Given the description of an element on the screen output the (x, y) to click on. 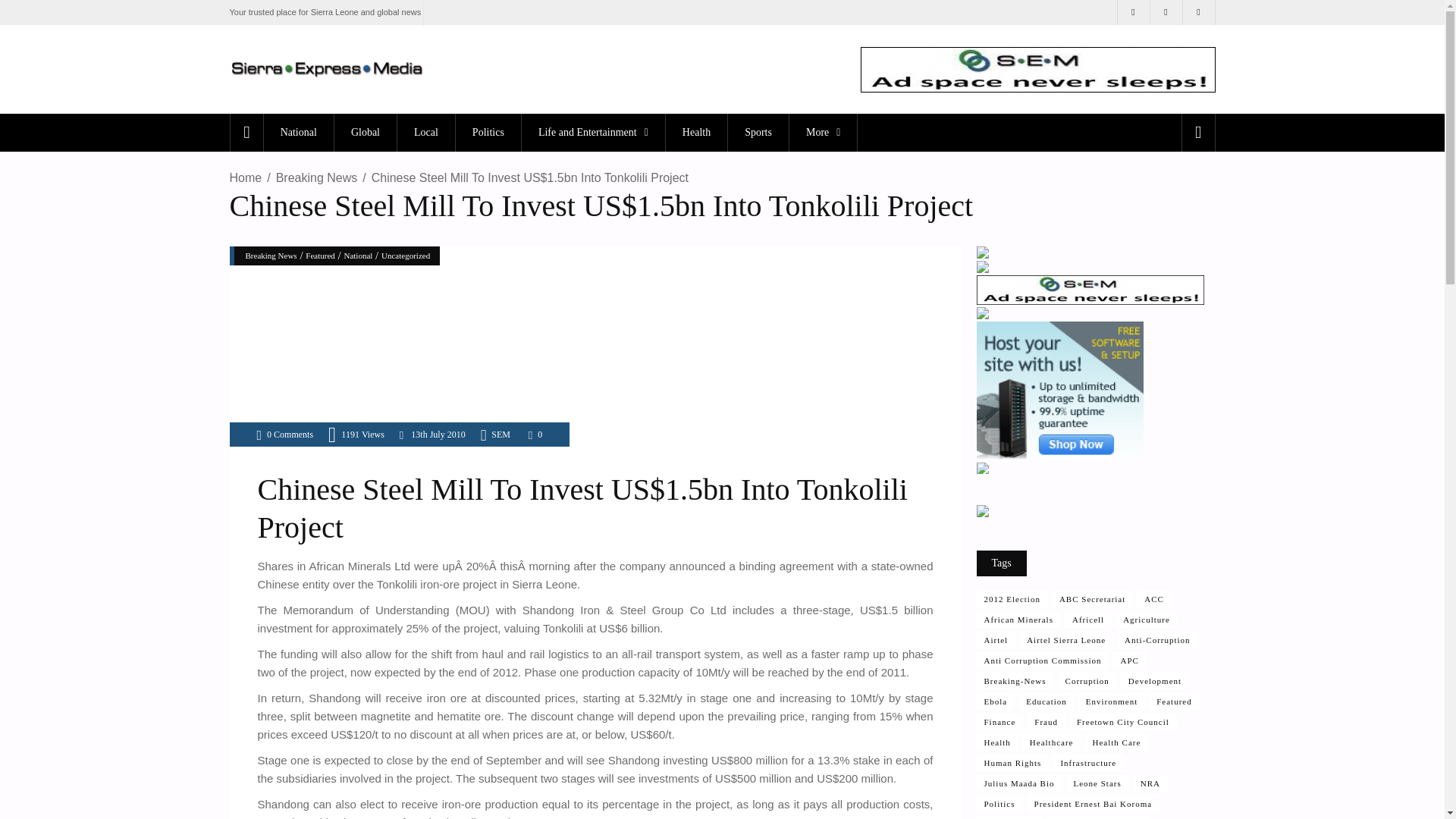
Life and Entertainment (593, 132)
Internet Programming Solutions - A SaloneTech Company (982, 254)
Politics (487, 132)
Global (364, 132)
Local (425, 132)
National (298, 132)
